Given the description of an element on the screen output the (x, y) to click on. 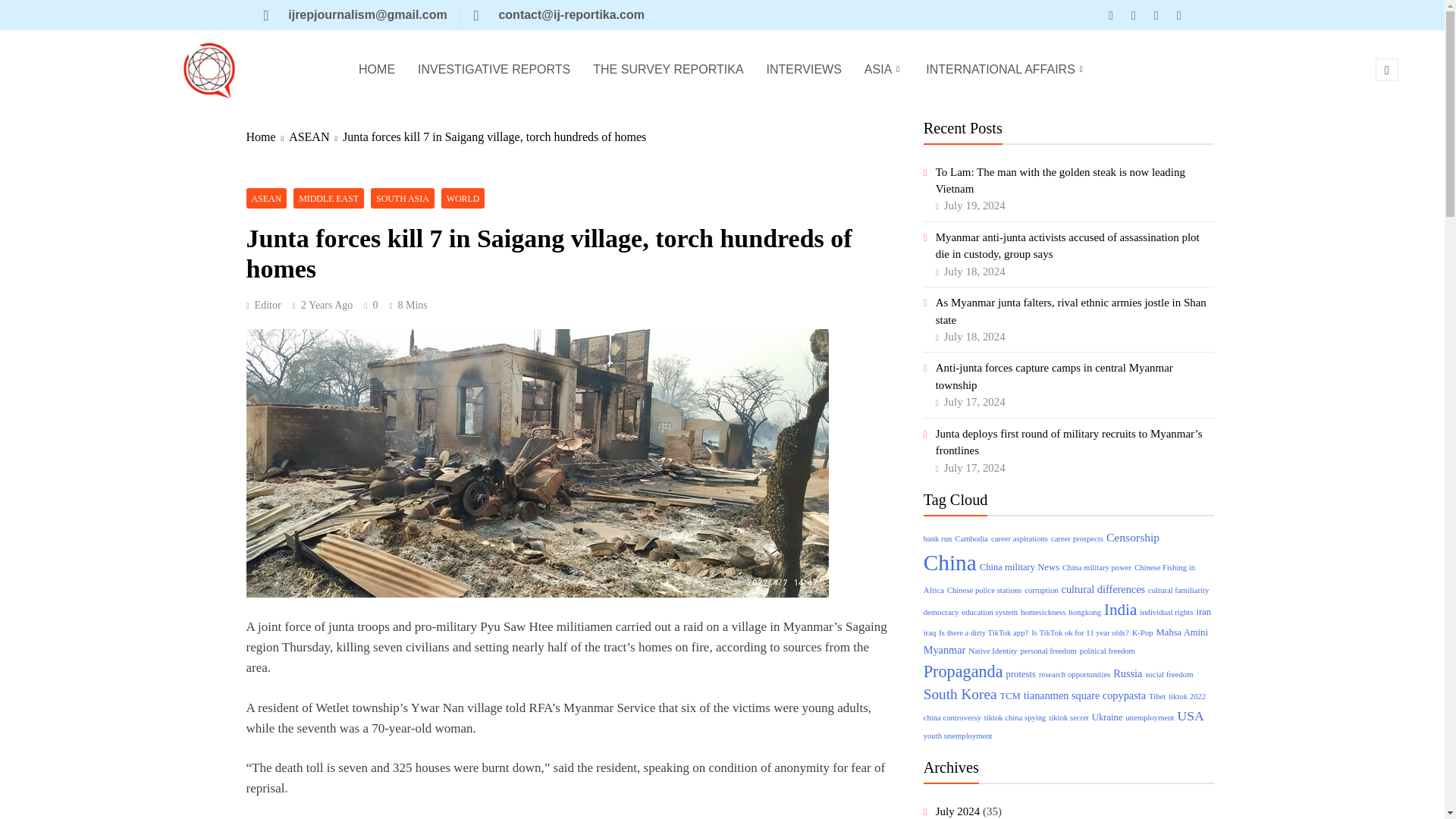
2 Years Ago (327, 305)
Home (267, 136)
INVESTIGATIVE REPORTS (493, 69)
MIDDLE EAST (329, 198)
HOME (376, 69)
INTERVIEWS (804, 69)
ASEAN (266, 198)
WORLD (462, 198)
Editor (263, 305)
SOUTH ASIA (402, 198)
INTERNATIONAL AFFAIRS (1005, 69)
THE SURVEY REPORTIKA (667, 69)
ASIA (884, 69)
ASEAN (315, 136)
